Given the description of an element on the screen output the (x, y) to click on. 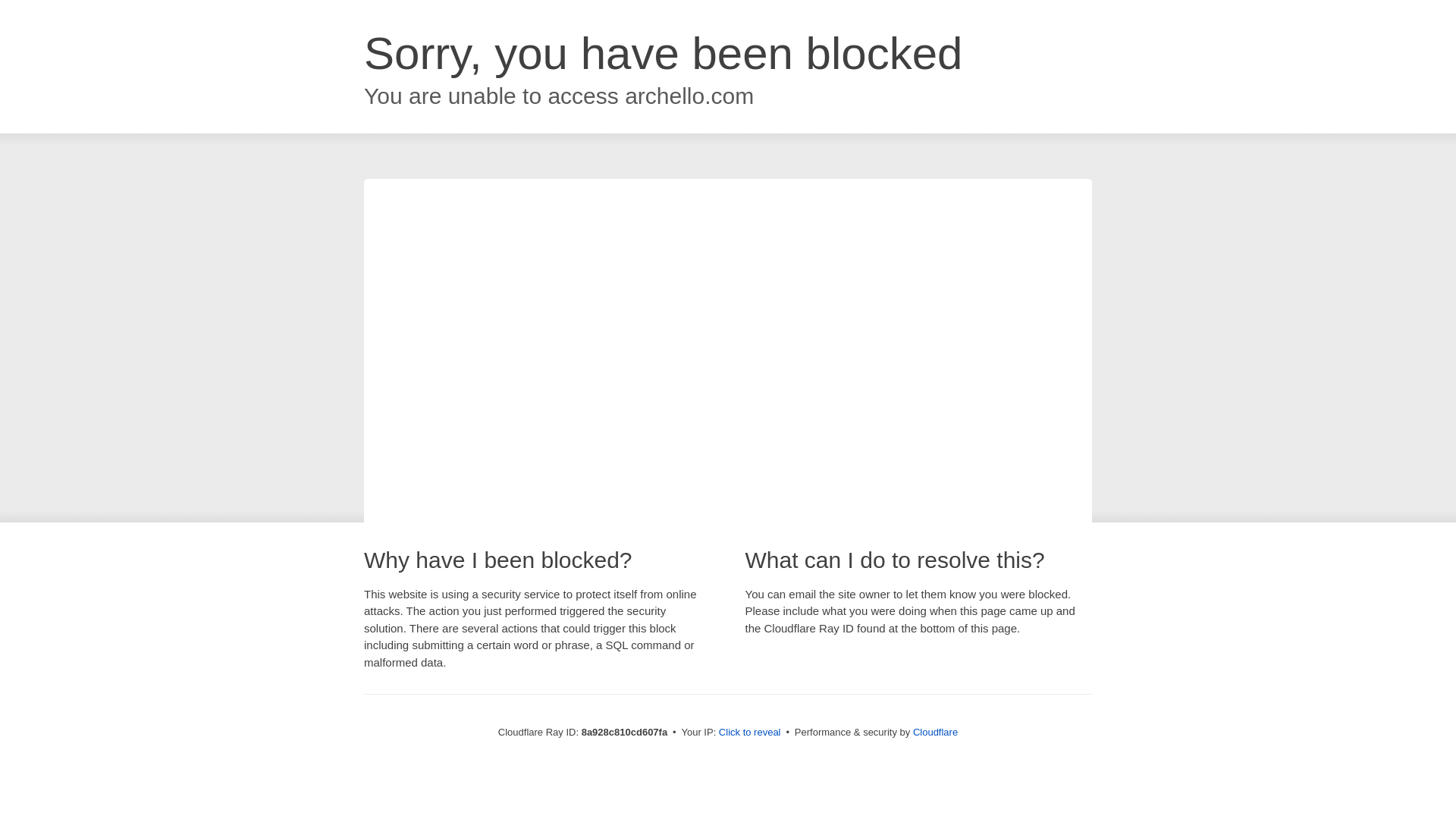
Cloudflare (935, 731)
Click to reveal (749, 732)
